Given the description of an element on the screen output the (x, y) to click on. 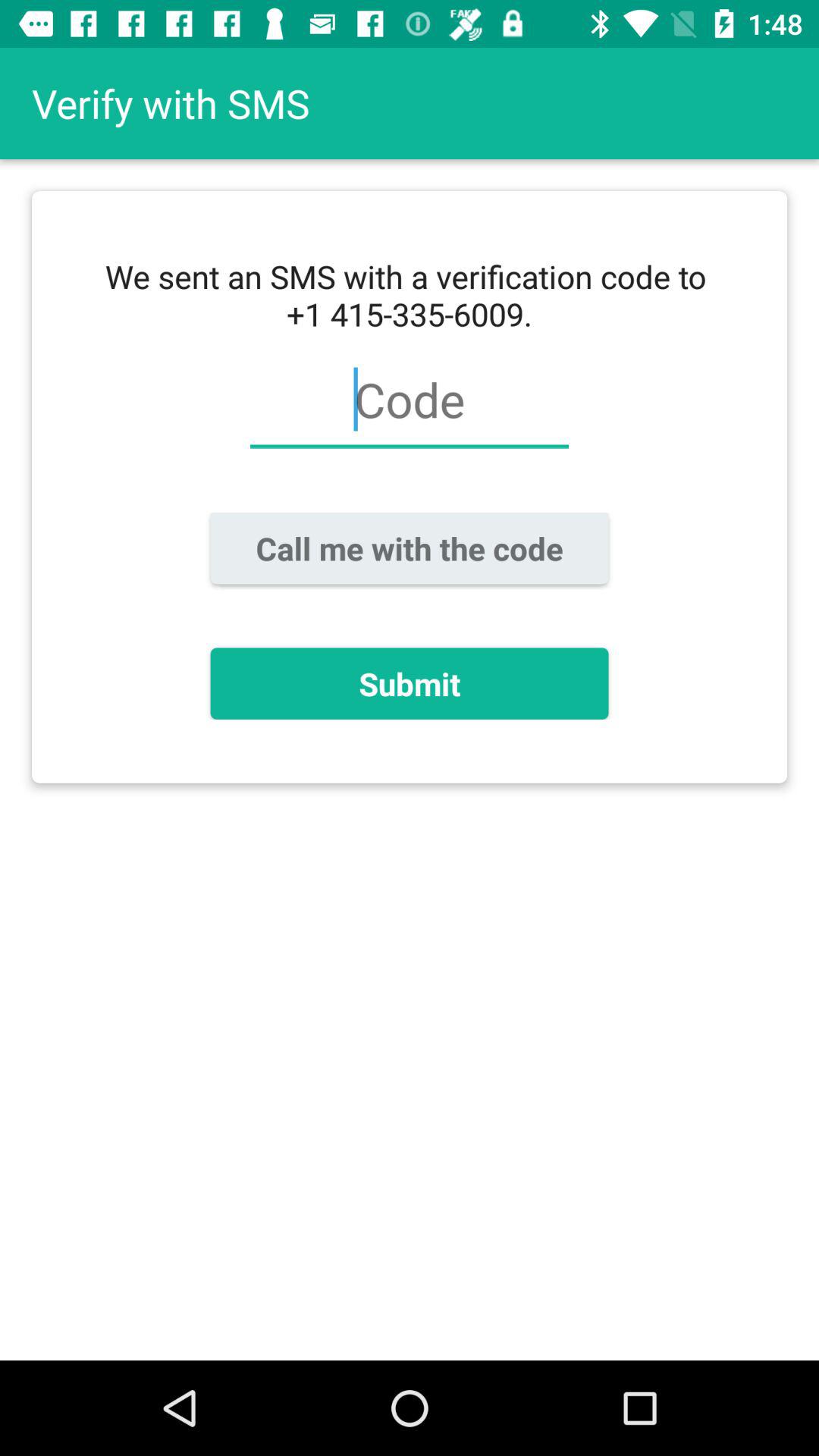
flip to call me with item (409, 548)
